Given the description of an element on the screen output the (x, y) to click on. 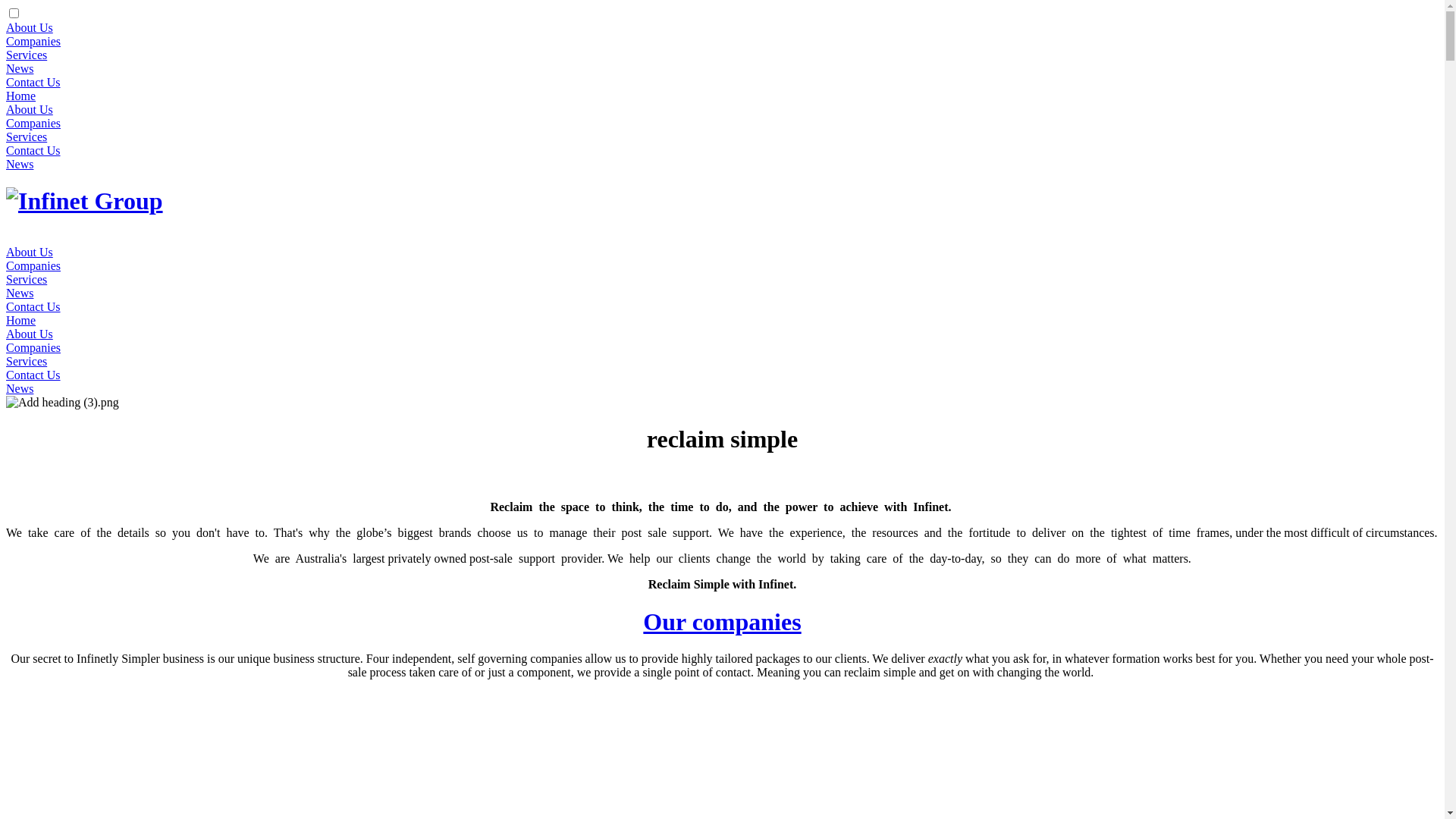
Contact Us Element type: text (33, 374)
Companies Element type: text (33, 265)
Services Element type: text (26, 279)
Services Element type: text (26, 360)
News Element type: text (19, 292)
Contact Us Element type: text (33, 150)
Services Element type: text (26, 54)
About Us Element type: text (29, 333)
Contact Us Element type: text (33, 81)
Services Element type: text (26, 136)
Companies Element type: text (33, 40)
About Us Element type: text (29, 251)
Companies Element type: text (33, 347)
News Element type: text (19, 388)
Our companies Element type: text (721, 621)
Contact Us Element type: text (33, 306)
Companies Element type: text (33, 122)
Home Element type: text (20, 319)
About Us Element type: text (29, 109)
News Element type: text (19, 68)
Home Element type: text (20, 95)
News Element type: text (19, 163)
About Us Element type: text (29, 27)
